Given the description of an element on the screen output the (x, y) to click on. 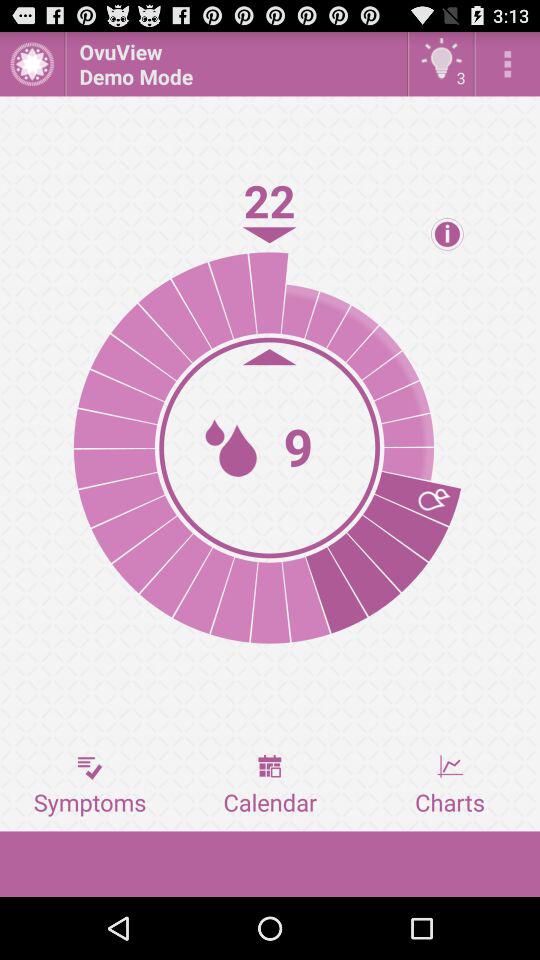
choose the item to the left of calendar button (90, 785)
